Given the description of an element on the screen output the (x, y) to click on. 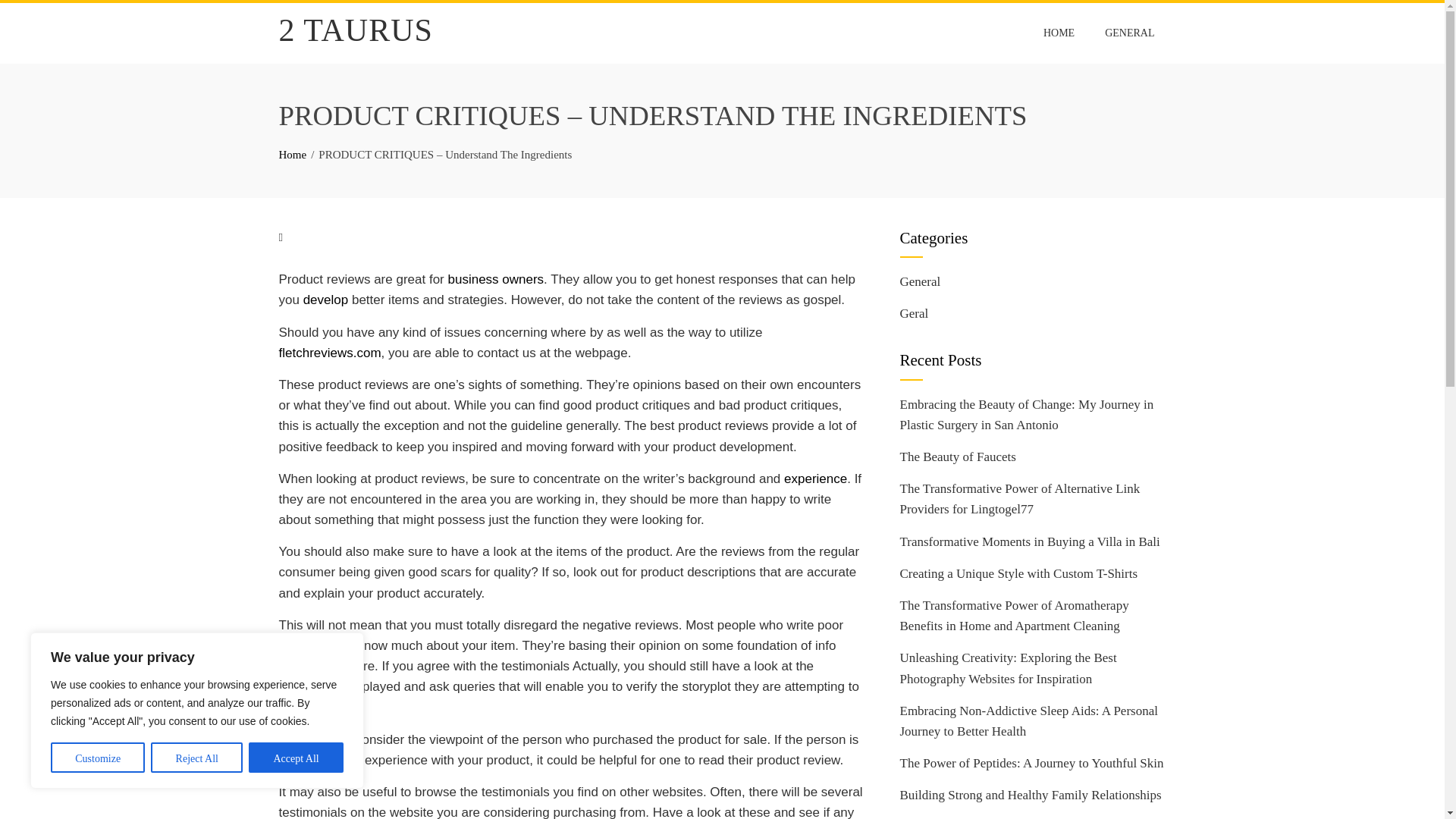
Transformative Moments in Buying a Villa in Bali (1028, 541)
Geral (913, 313)
GENERAL (1129, 32)
Accept All (295, 757)
Home (293, 154)
experience (815, 478)
2 TAURUS (355, 30)
fletchreviews.com (330, 352)
Reject All (197, 757)
business owners (494, 278)
The Power of Peptides: A Journey to Youthful Skin (1031, 762)
The Beauty of Faucets (956, 456)
